Given the description of an element on the screen output the (x, y) to click on. 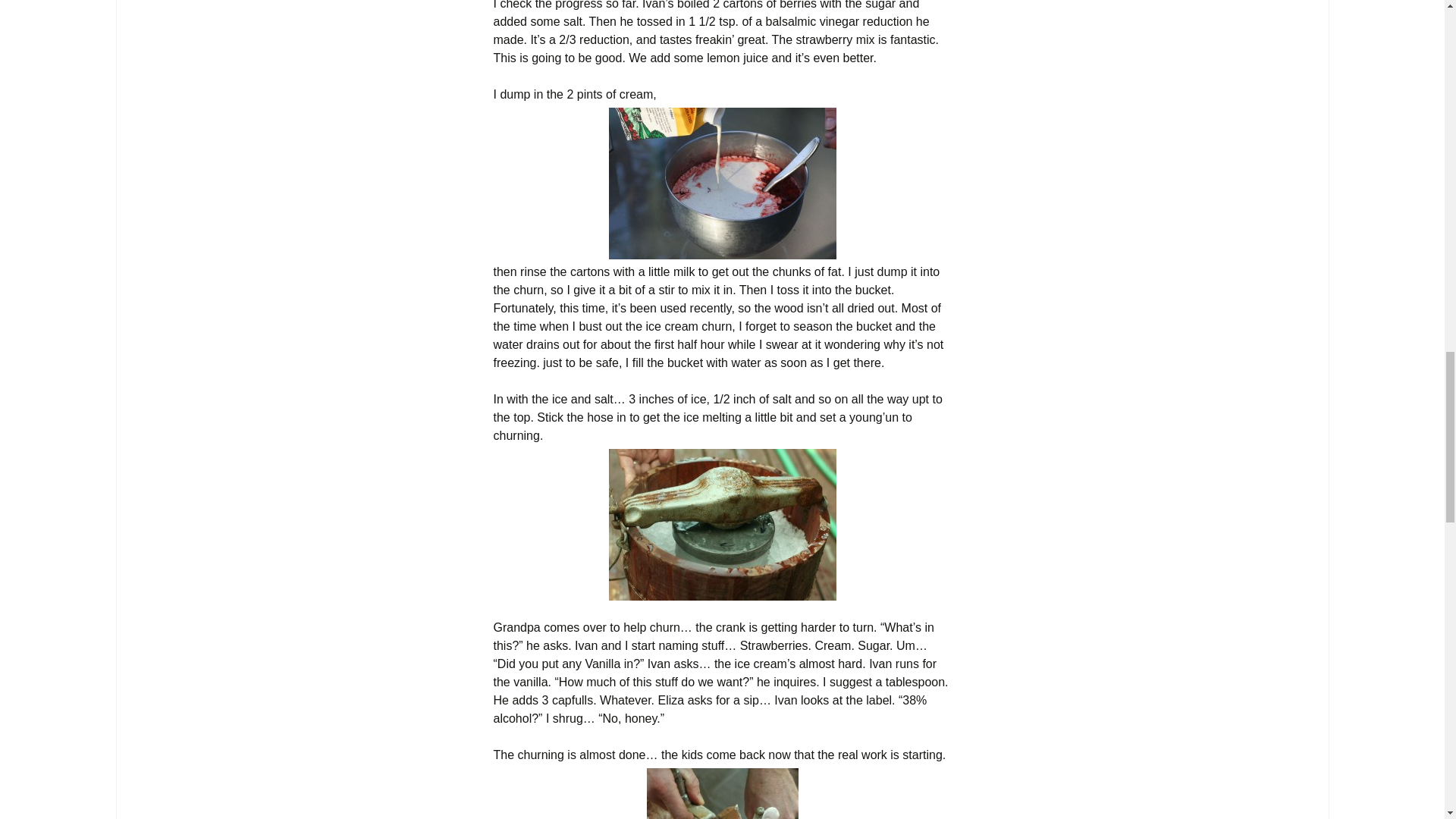
churn (721, 524)
pour cream2 (721, 183)
scraping dasher (721, 793)
